Given the description of an element on the screen output the (x, y) to click on. 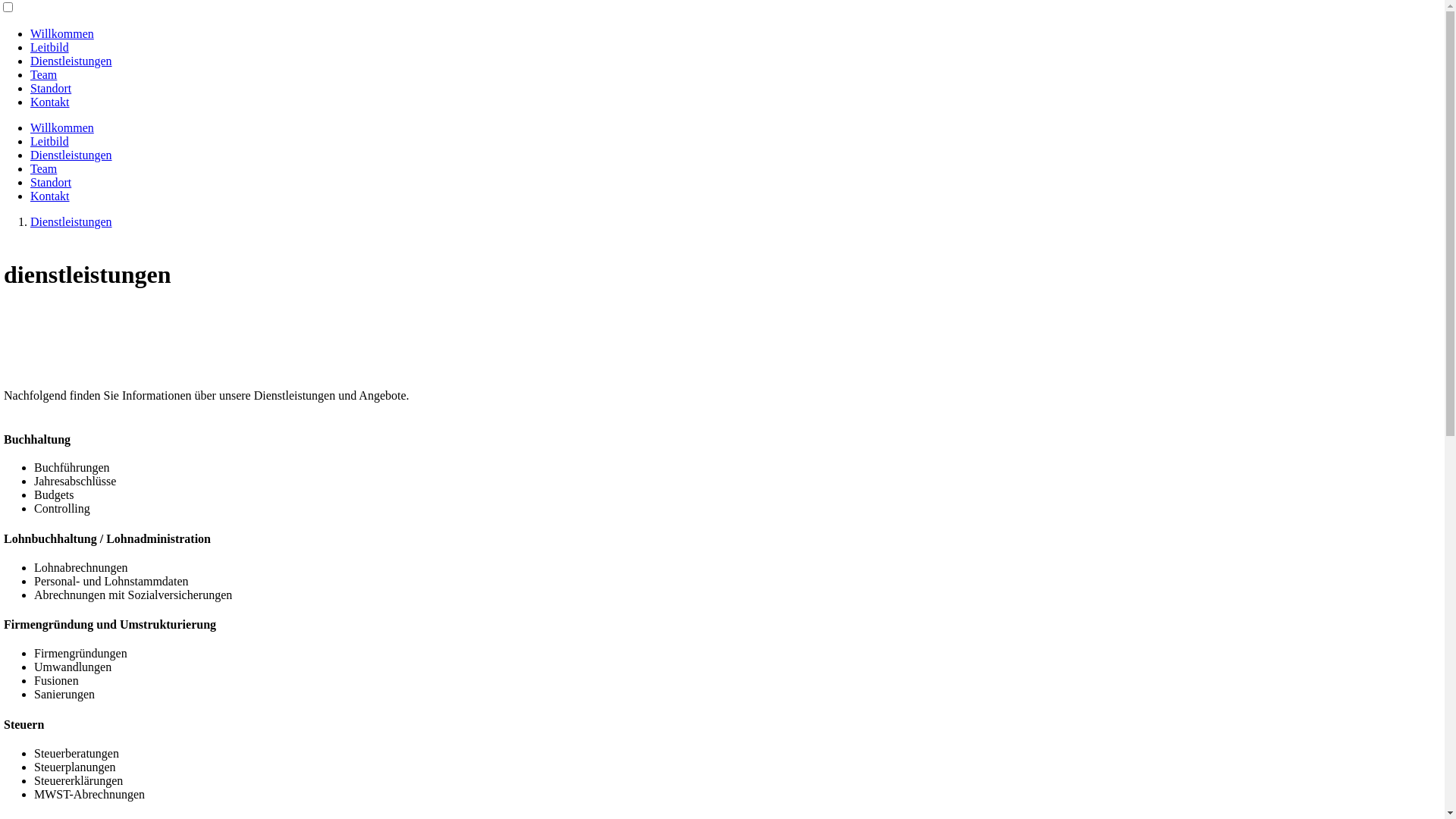
Dienstleistungen Element type: text (71, 154)
Willkommen Element type: text (62, 127)
Standort Element type: text (50, 181)
Team Element type: text (43, 168)
Leitbild Element type: text (49, 46)
Kontakt Element type: text (49, 101)
Kontakt Element type: text (49, 195)
Team Element type: text (43, 74)
Standort Element type: text (50, 87)
Willkommen Element type: text (62, 33)
Leitbild Element type: text (49, 140)
Dienstleistungen Element type: text (71, 60)
Dienstleistungen Element type: text (71, 221)
